Given the description of an element on the screen output the (x, y) to click on. 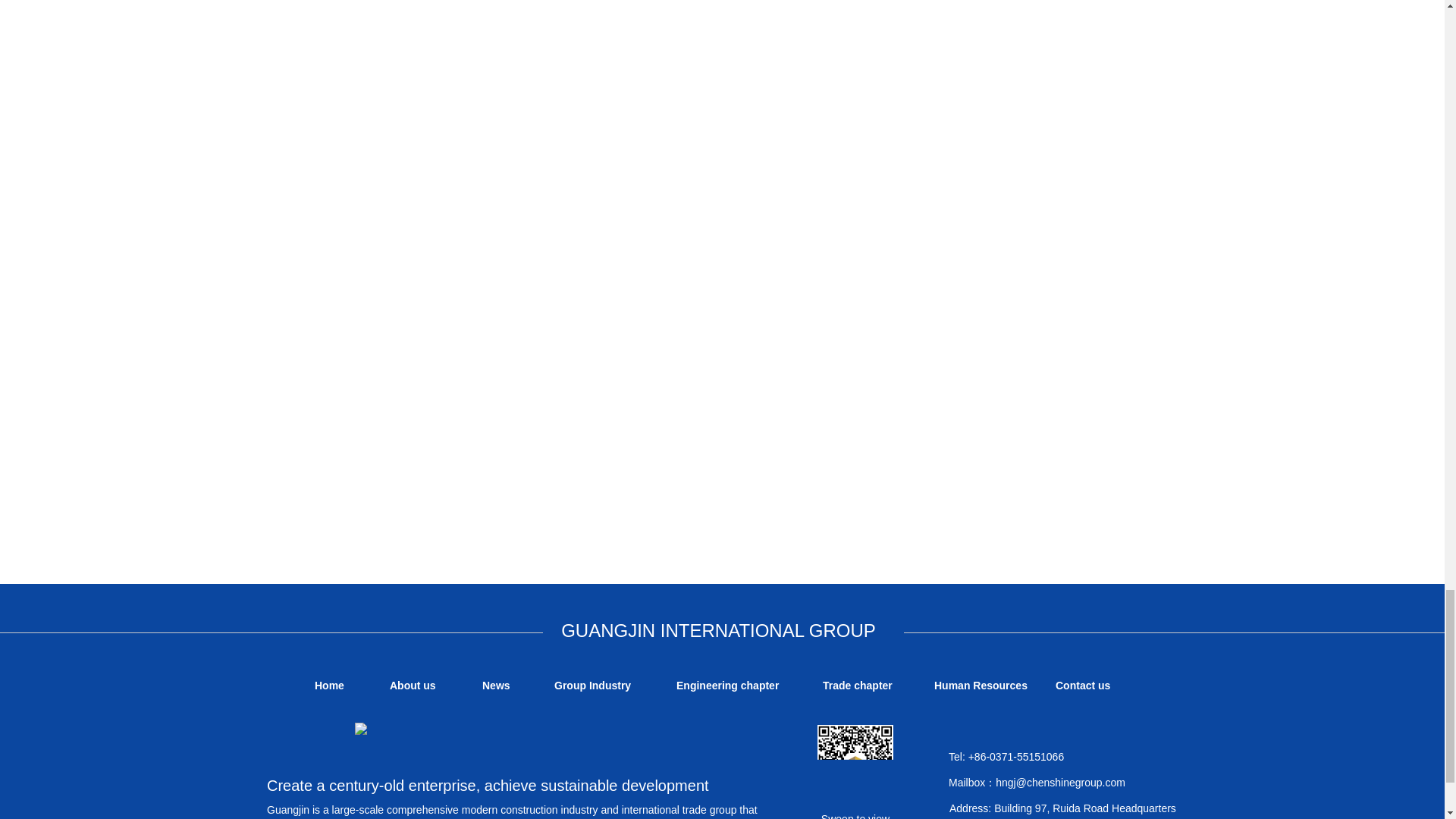
Home (328, 685)
Henan Guangjin Inter (360, 728)
Sweep to view Mobile (854, 762)
